Given the description of an element on the screen output the (x, y) to click on. 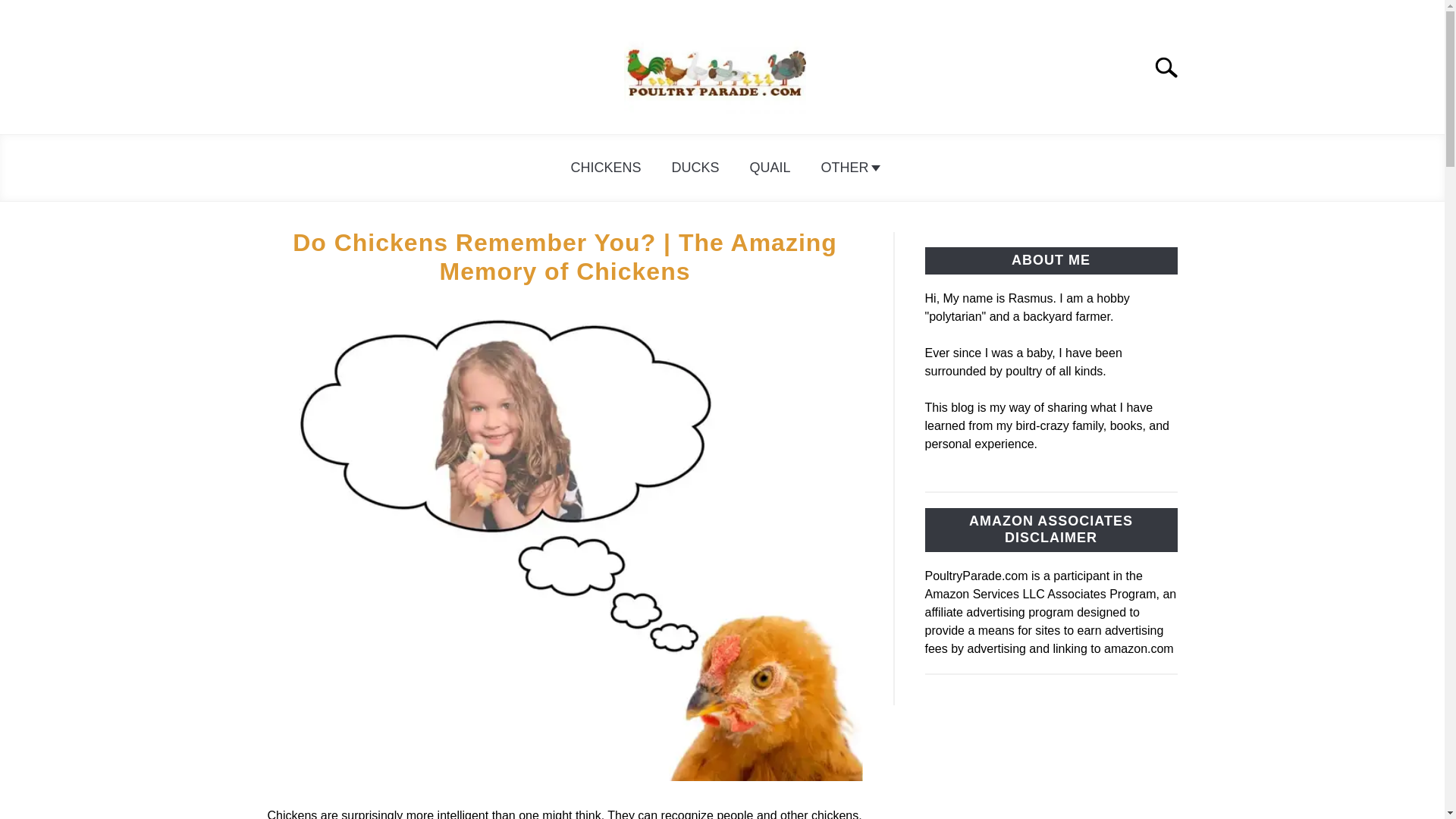
DUCKS (694, 167)
Search (1172, 67)
QUAIL (769, 167)
OTHER (847, 167)
CHICKENS (605, 167)
